Given the description of an element on the screen output the (x, y) to click on. 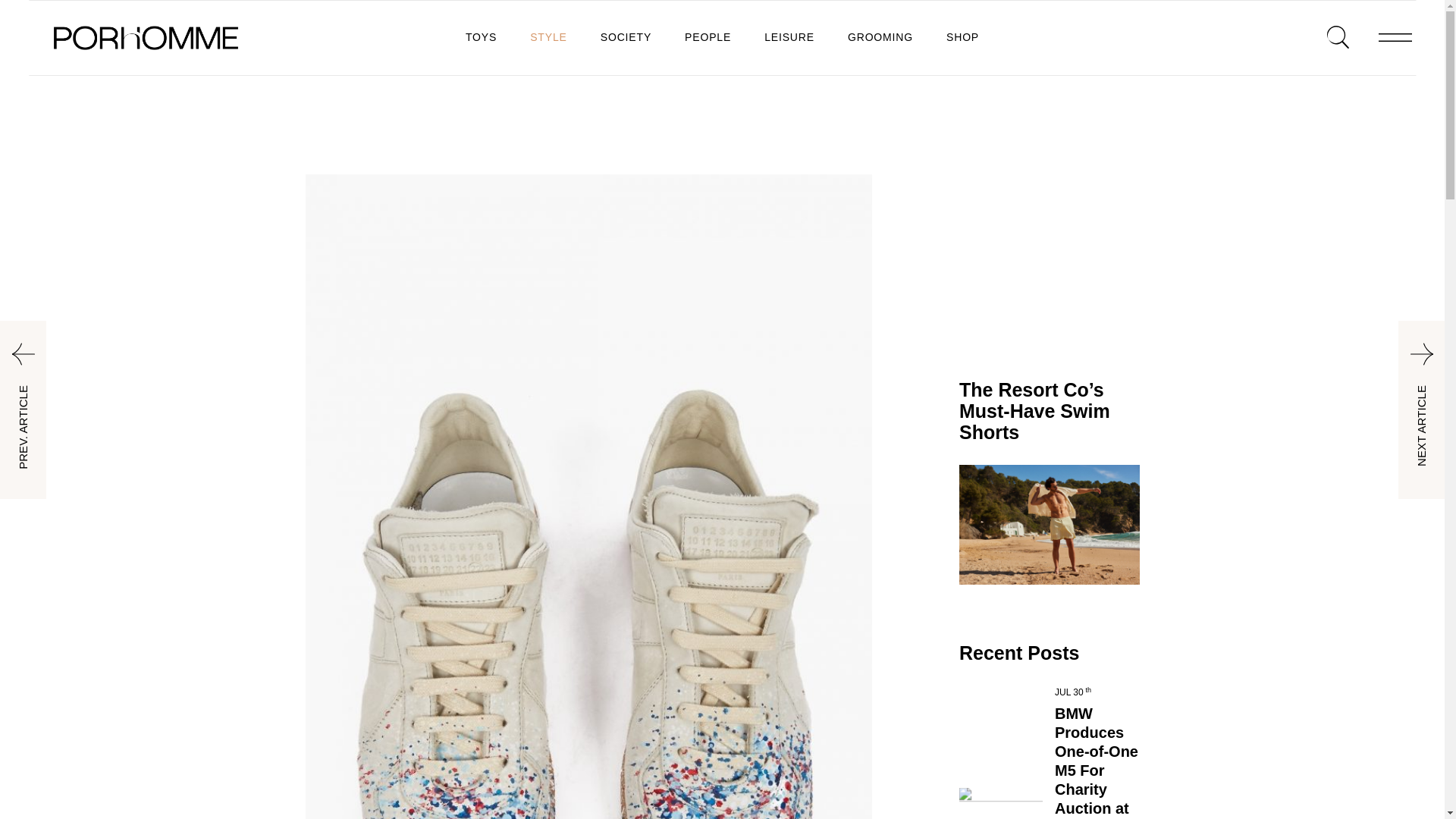
Rains Introduces New Styles and Colors (1049, 523)
JUL 30th (1072, 692)
